Given the description of an element on the screen output the (x, y) to click on. 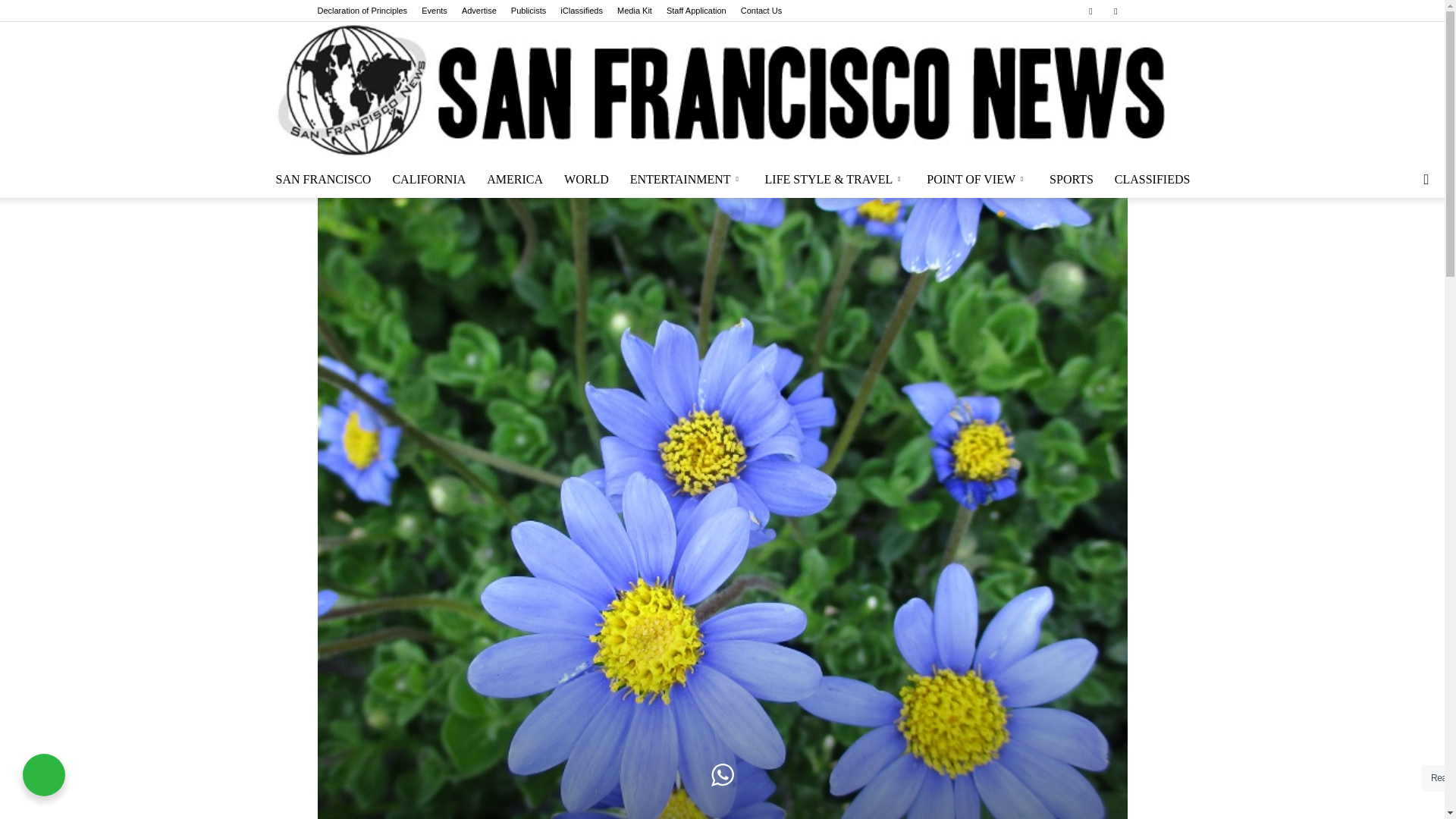
Media Kit (634, 10)
Contact Us (761, 10)
Facebook (1090, 10)
Advertise (478, 10)
Declaration of Principles (362, 10)
Staff Application (696, 10)
iClassifieds (581, 10)
Events (434, 10)
Publicists (528, 10)
Twitter (1114, 10)
